Given the description of an element on the screen output the (x, y) to click on. 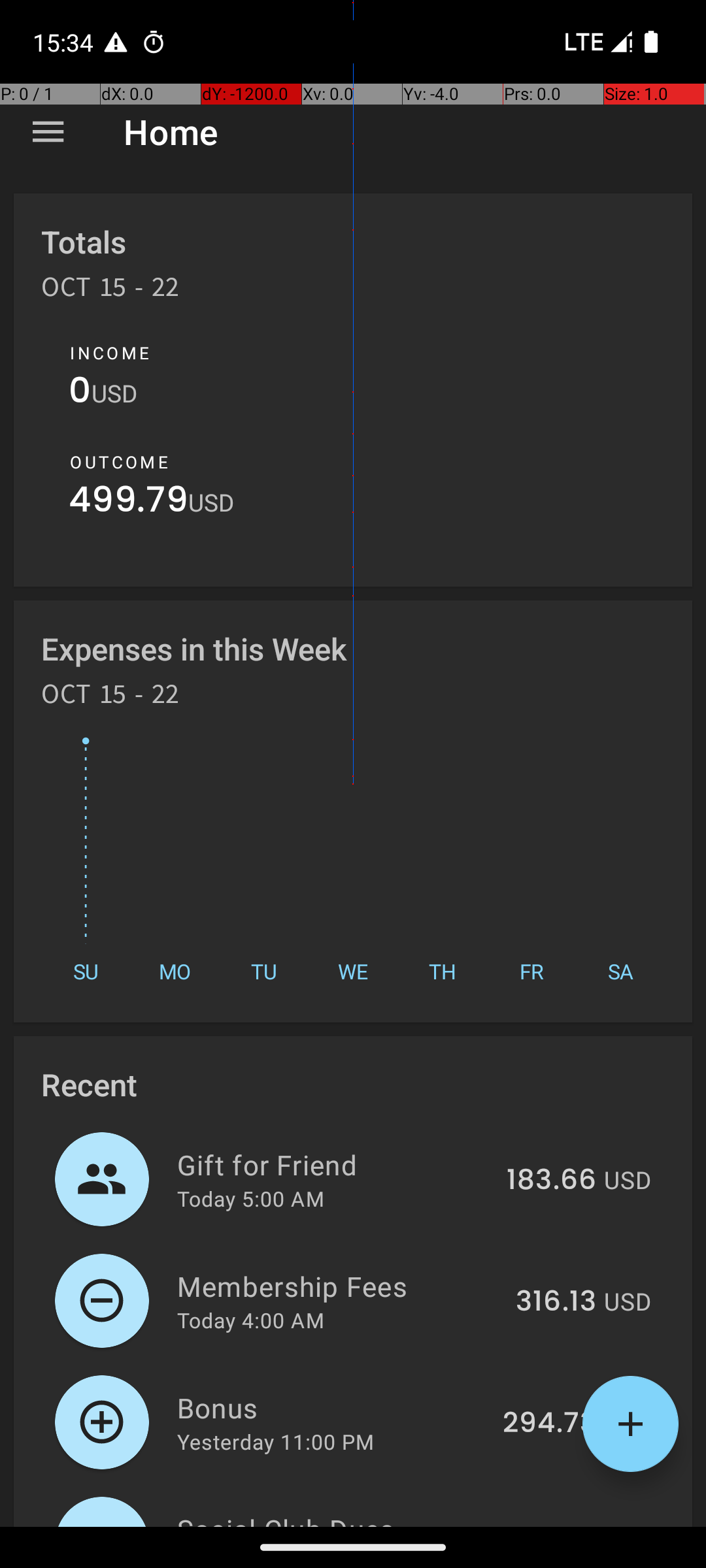
499.79 Element type: android.widget.TextView (128, 502)
Gift for Friend Element type: android.widget.TextView (334, 1164)
Today 5:00 AM Element type: android.widget.TextView (250, 1198)
183.66 Element type: android.widget.TextView (550, 1180)
Membership Fees Element type: android.widget.TextView (338, 1285)
Today 4:00 AM Element type: android.widget.TextView (250, 1320)
316.13 Element type: android.widget.TextView (555, 1301)
Bonus Element type: android.widget.TextView (332, 1407)
Yesterday 11:00 PM Element type: android.widget.TextView (275, 1441)
294.73 Element type: android.widget.TextView (549, 1423)
Social Club Dues Element type: android.widget.TextView (336, 1518)
371.76 Element type: android.widget.TextView (552, 1524)
